Given the description of an element on the screen output the (x, y) to click on. 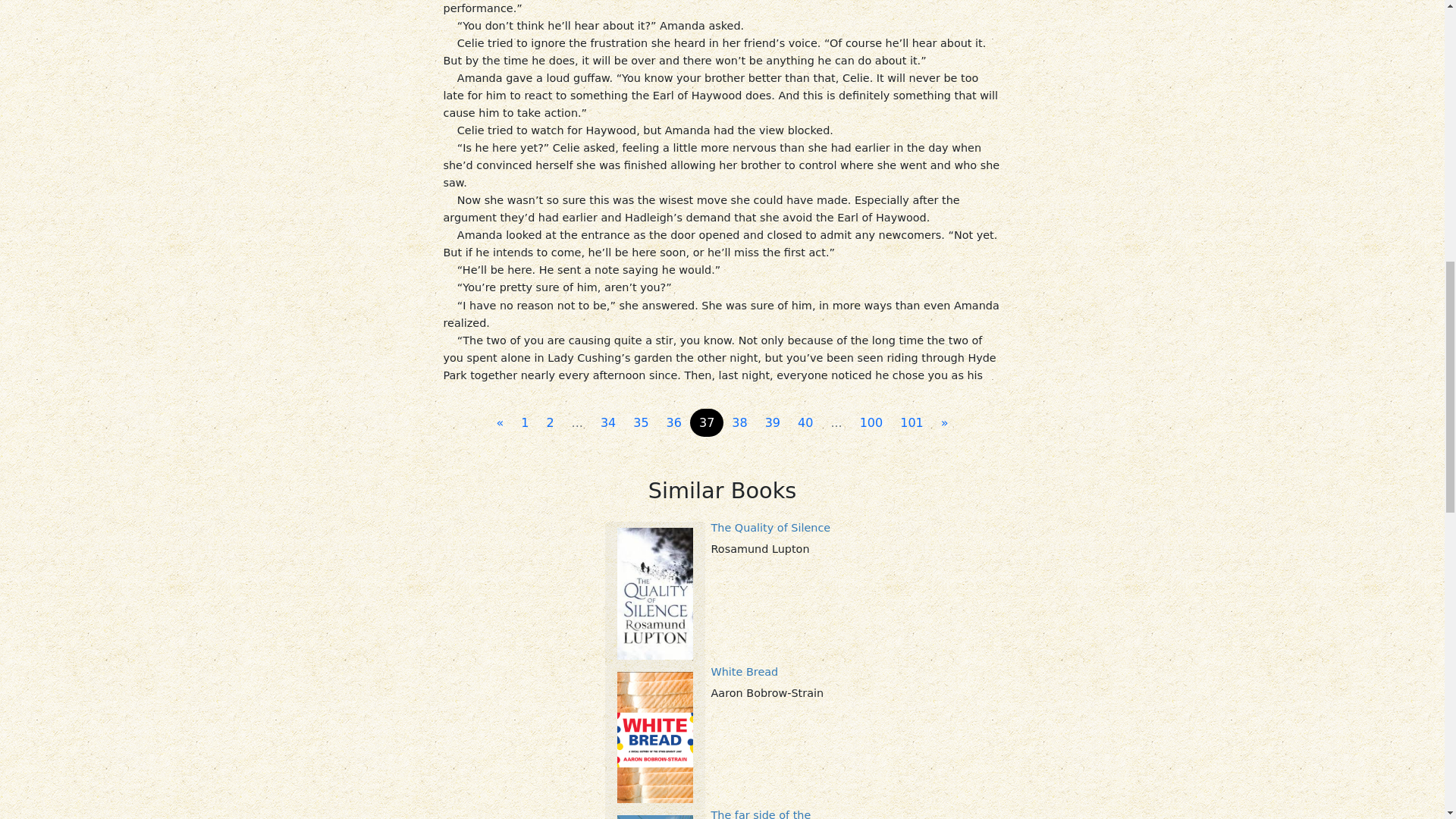
2 (549, 422)
37 (706, 422)
38 (738, 422)
... (835, 422)
40 (805, 422)
1 (524, 422)
34 (607, 422)
36 (674, 422)
39 (772, 422)
35 (641, 422)
... (577, 422)
